Given the description of an element on the screen output the (x, y) to click on. 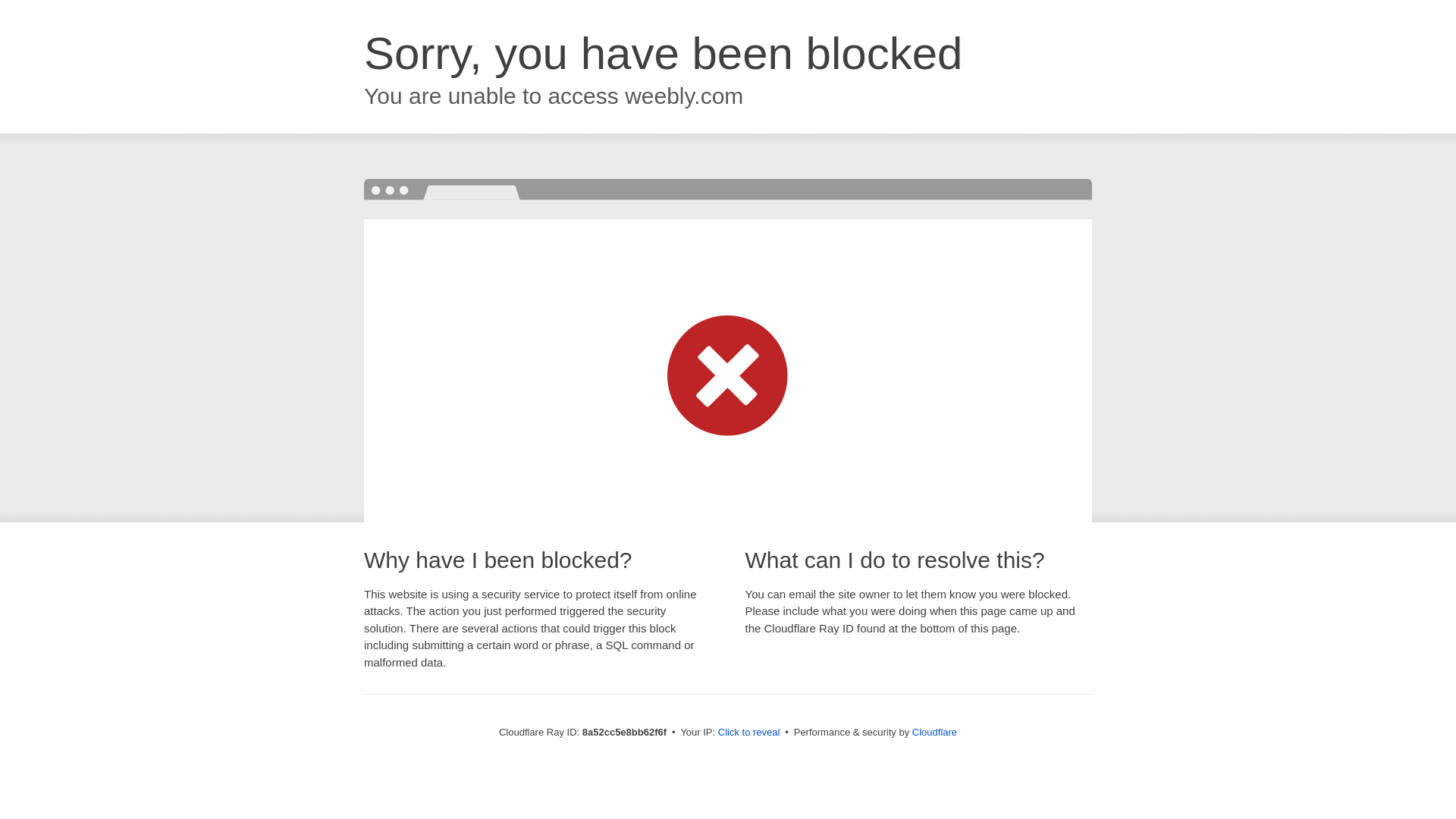
Click to reveal (748, 732)
Cloudflare (934, 731)
